Given the description of an element on the screen output the (x, y) to click on. 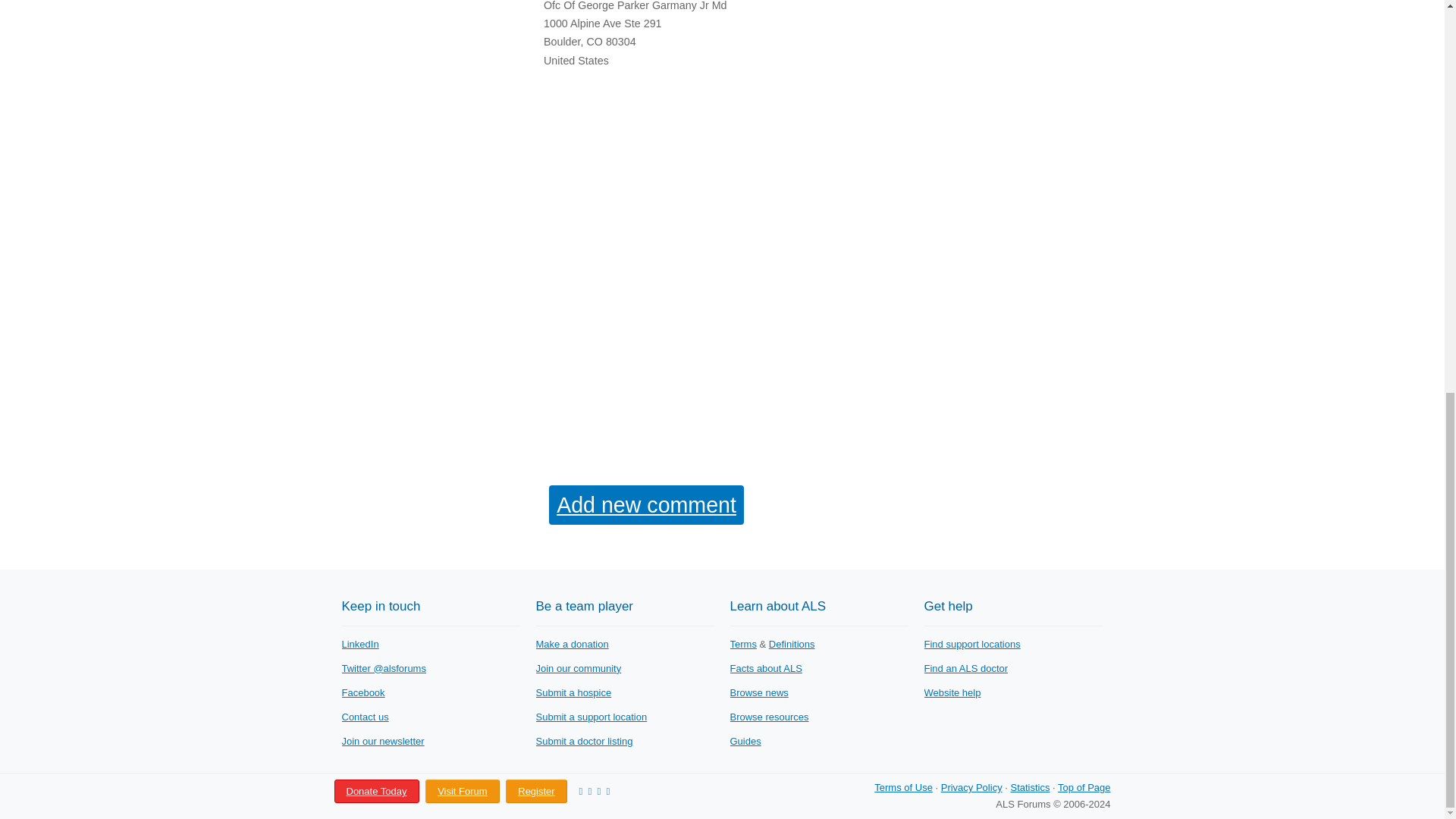
Add new comment (646, 504)
LinkedIn (359, 644)
Contact us (364, 716)
Facebook (362, 692)
Share your thoughts and opinions related to this posting. (646, 504)
Add hospice (573, 692)
Join our newsletter (381, 740)
Our Facebook (362, 692)
Our Twitter (382, 668)
